Given the description of an element on the screen output the (x, y) to click on. 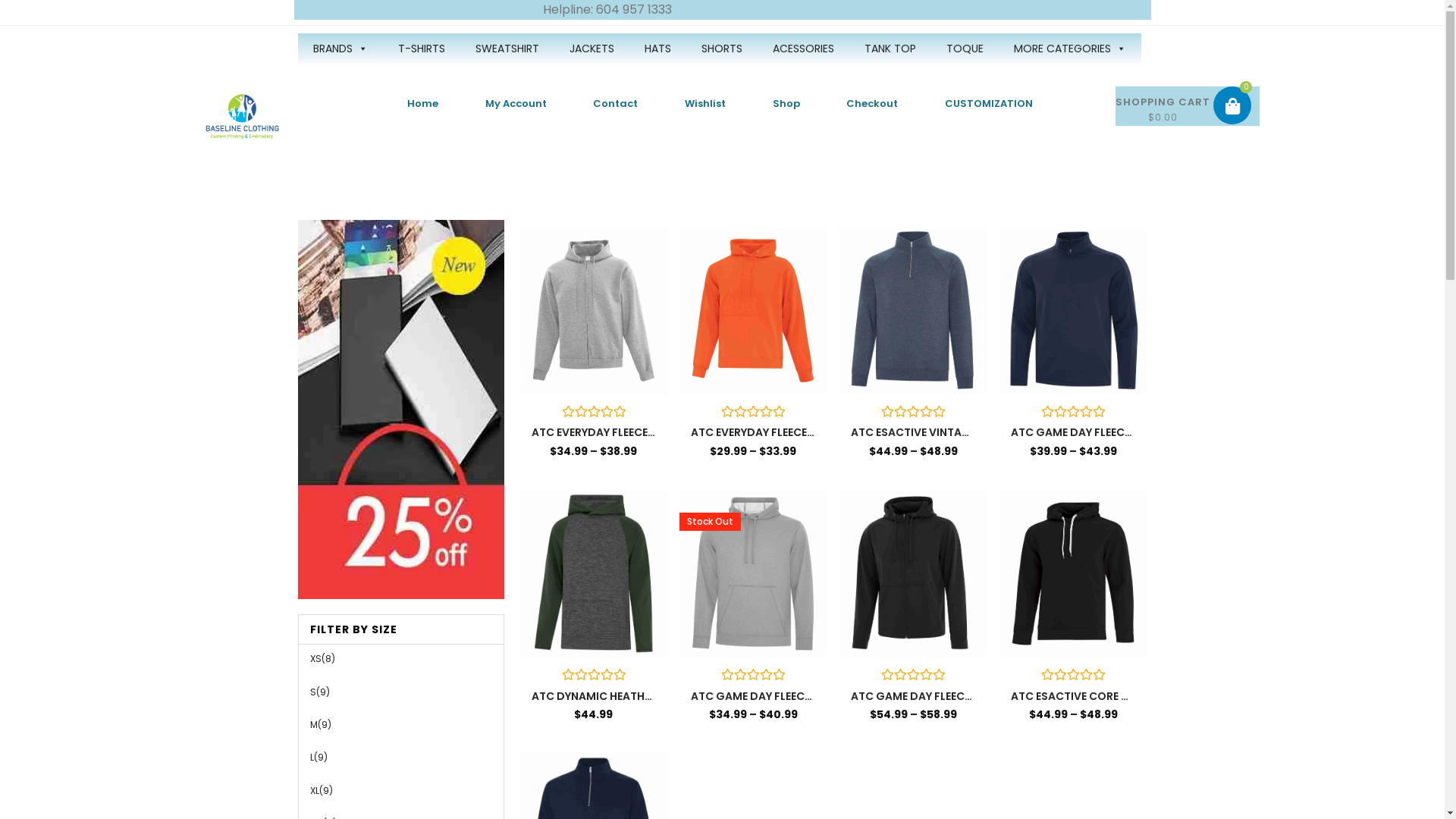
TOQUE Element type: text (964, 48)
MORE CATEGORIES Element type: text (1068, 48)
CUSTOMIZATION Element type: text (988, 103)
Checkout Element type: text (872, 103)
XS Element type: text (314, 658)
HATS Element type: text (657, 48)
L Element type: text (311, 756)
My Account Element type: text (515, 103)
ATC EVERYDAY FLEECE FULL ZIP HOODED SWEATSHIRT. ATCF2600 Element type: text (593, 432)
SWEATSHIRT Element type: text (506, 48)
$0.00 Element type: text (1187, 105)
ATC GAME DAY FLEECE HOODED SWEATSHIRT. F2005 Element type: text (752, 696)
ATC EVERYDAY FLEECE HOODED SWEATSHIRT. ATCF2500 Element type: text (752, 432)
TANK TOP Element type: text (890, 48)
T-SHIRTS Element type: text (420, 48)
Contact Element type: text (616, 103)
ATC ESACTIVE VINTAGE 1/4 ZIP SWEATSHIRT. F2042 Element type: text (912, 432)
BRANDS Element type: text (339, 48)
XL Element type: text (313, 790)
Home Element type: text (422, 103)
Shop Element type: text (786, 103)
ACESSORIES Element type: text (802, 48)
S Element type: text (312, 691)
ATC GAME DAY FLEECE FULL ZIP HOODED SWEATSHIRT. F2004 Element type: text (912, 696)
Wishlist Element type: text (705, 103)
M Element type: text (312, 724)
ATC GAME DAY FLEECE 1/2 ZIP SWEATSHIRT. F2035 Element type: text (1072, 432)
JACKETS Element type: text (590, 48)
ATC ESACTIVE CORE HOODED SWEATSHIRT F2016 Element type: text (1072, 696)
SHORTS Element type: text (720, 48)
